Given the description of an element on the screen output the (x, y) to click on. 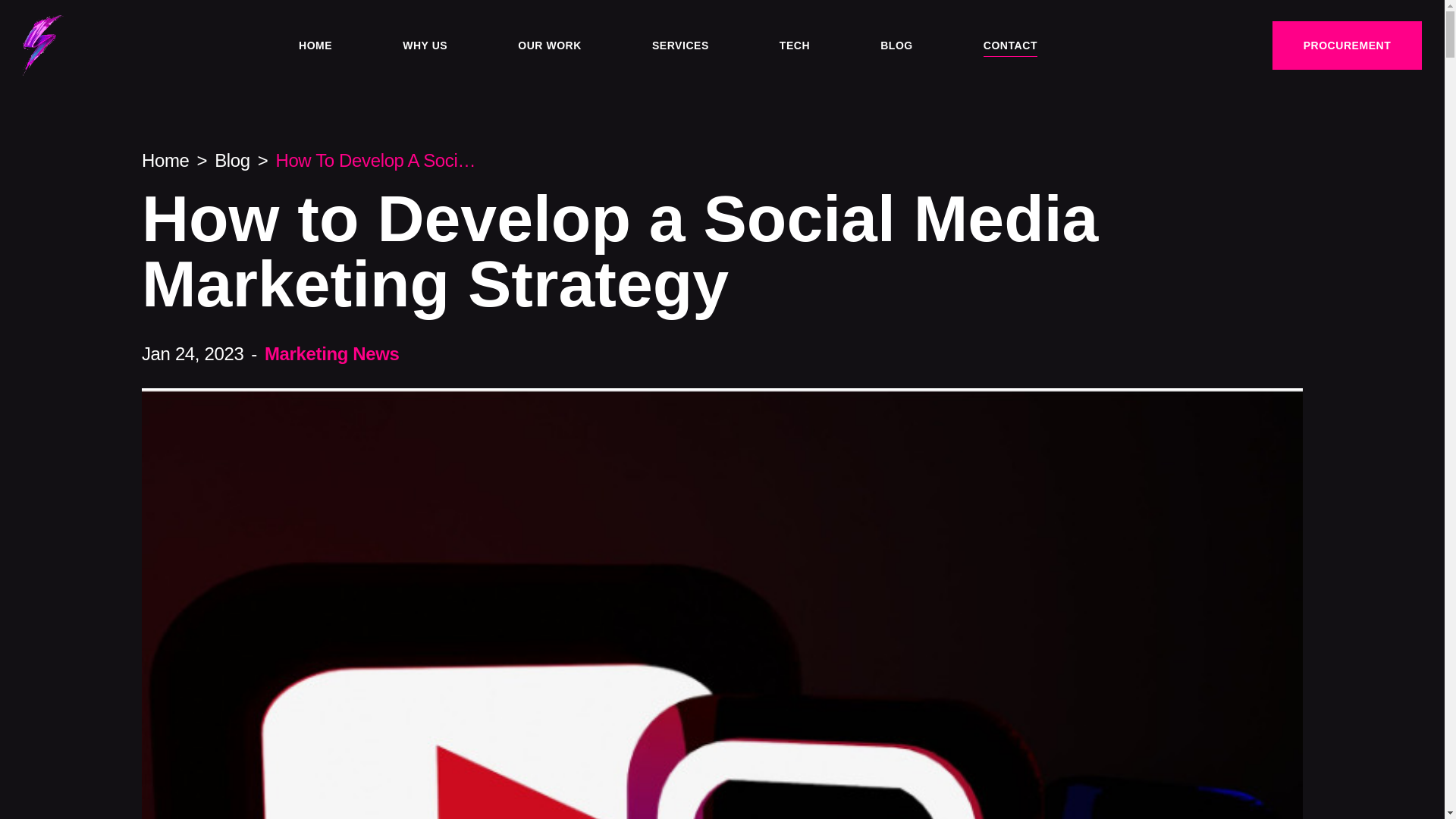
SERVICES (680, 45)
OUR WORK (549, 45)
TECH (793, 45)
Blog (232, 159)
HOME (314, 45)
Home (165, 159)
BLOG (896, 45)
CONTACT (1010, 45)
PROCUREMENT (1347, 45)
WHY US (424, 45)
